Given the description of an element on the screen output the (x, y) to click on. 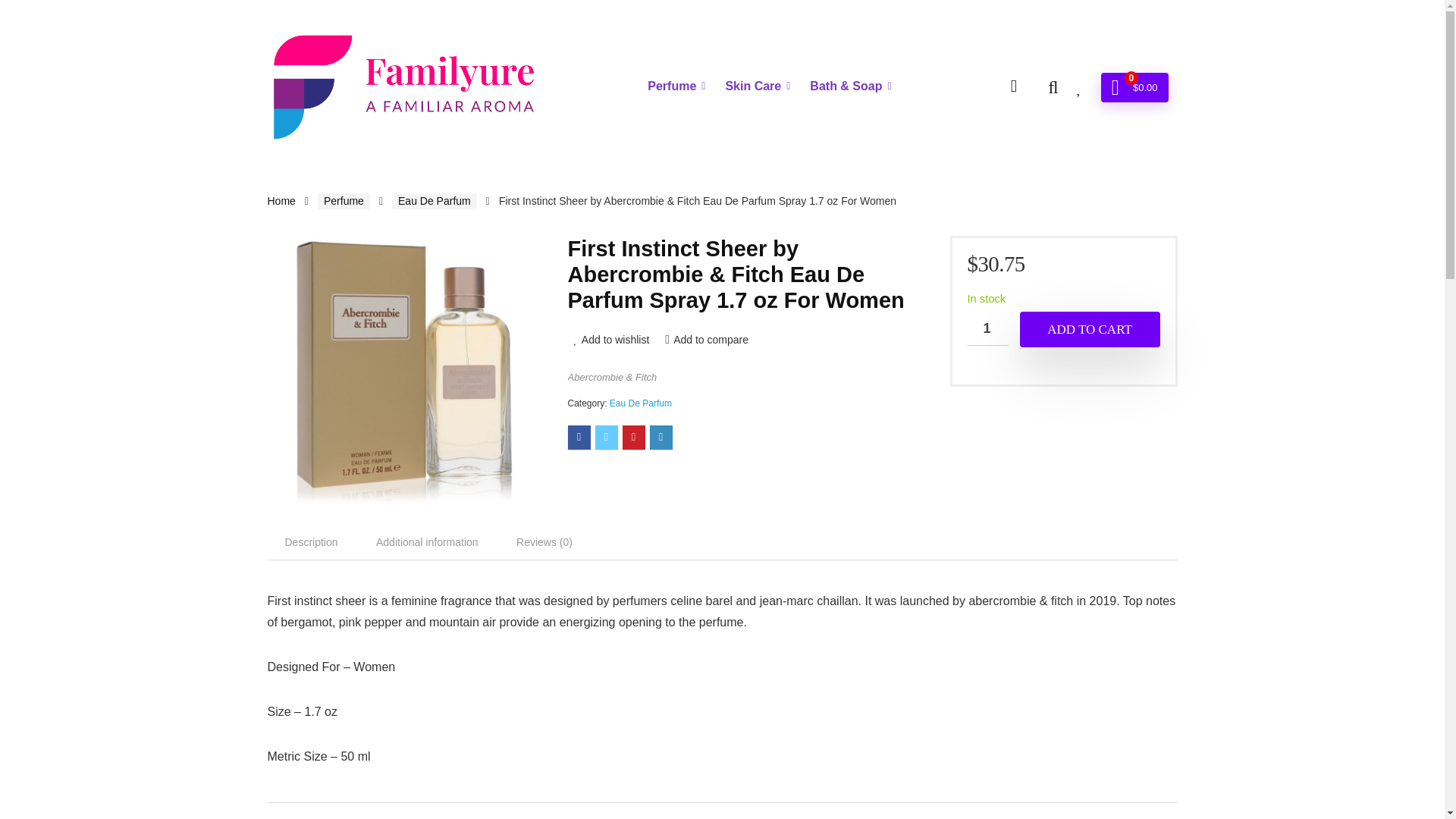
Perfume (675, 86)
Skin Care (756, 86)
Perfume (343, 201)
Additional information (427, 542)
Eau De Parfum (640, 403)
1 (988, 328)
Home (280, 200)
Description (310, 542)
Eau De Parfum (434, 201)
ADD TO CART (1088, 329)
